Given the description of an element on the screen output the (x, y) to click on. 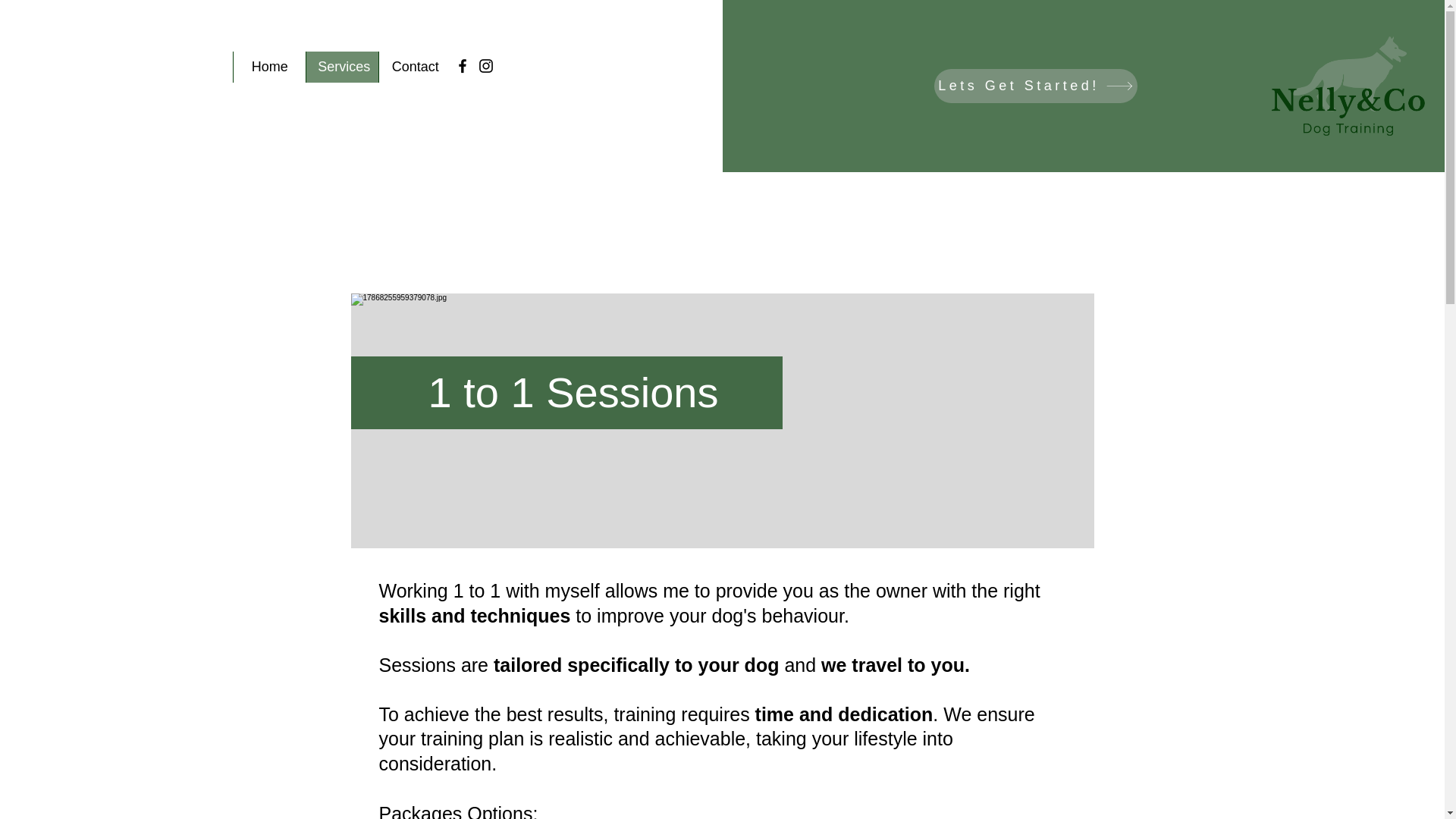
Lets Get Started! (1035, 85)
Contact (414, 66)
Home (268, 66)
Services (341, 66)
